Given the description of an element on the screen output the (x, y) to click on. 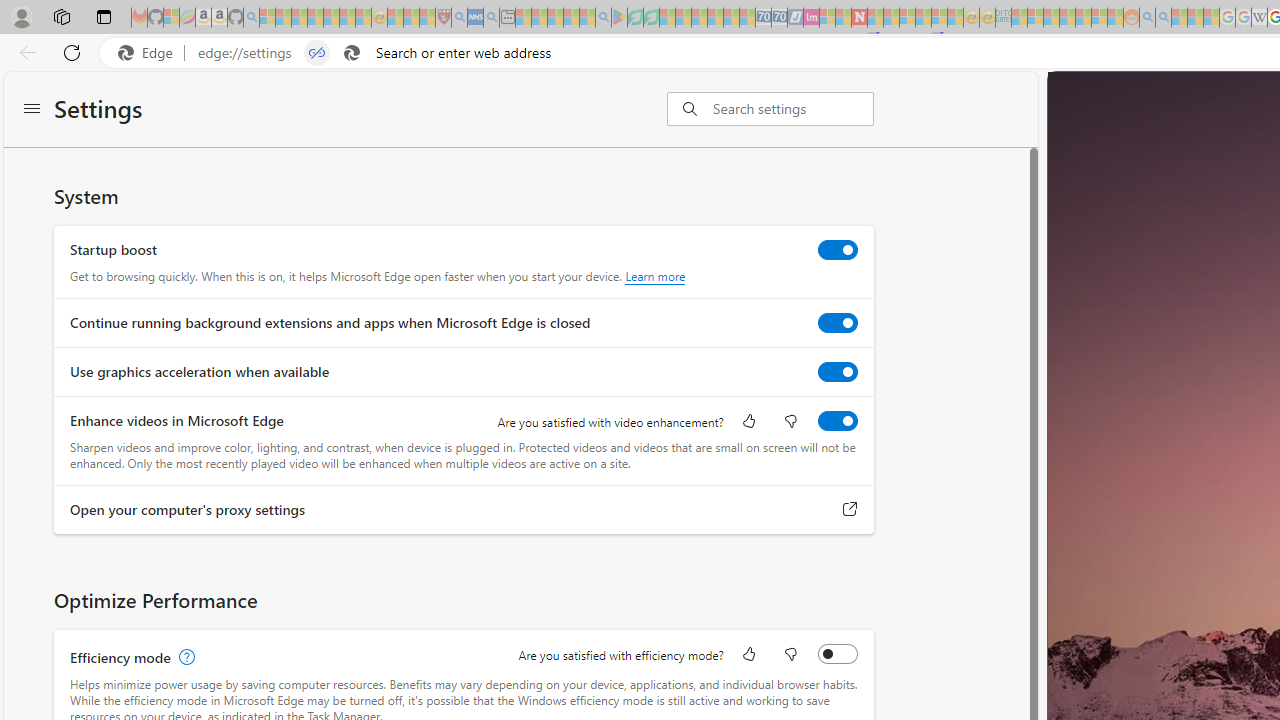
App launcher (1092, 104)
Enhance videos in Microsoft Edge (837, 421)
Use graphics acceleration when available (837, 372)
View comments 15 Comment (1246, 541)
